Given the description of an element on the screen output the (x, y) to click on. 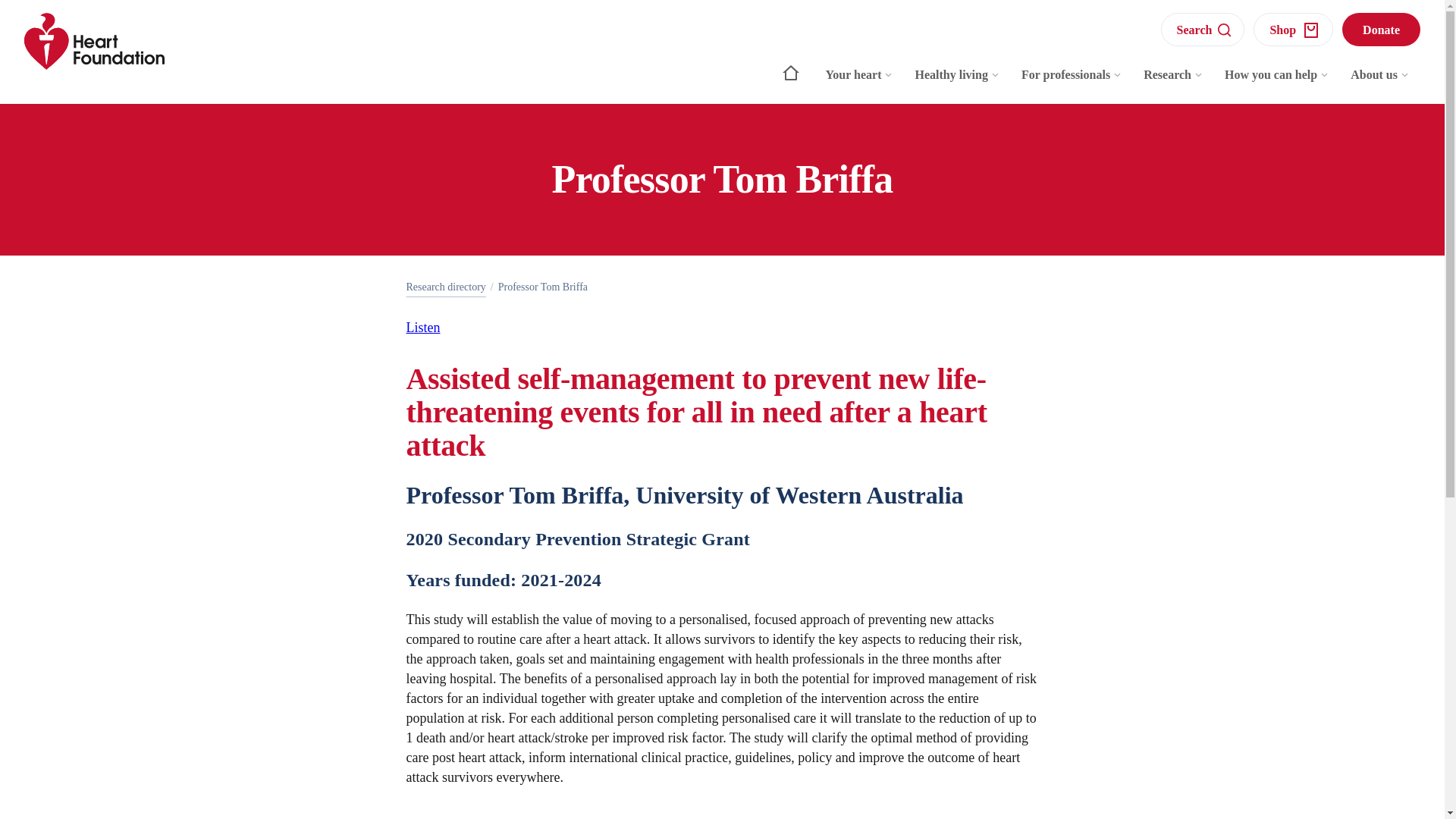
For professionals (1071, 81)
Your heart (859, 81)
Healthy living (957, 81)
How you can help (1276, 81)
Donate (1381, 29)
Listen (423, 327)
Shop (1293, 29)
About us (1380, 81)
Research (1173, 81)
Search (1202, 29)
